Given the description of an element on the screen output the (x, y) to click on. 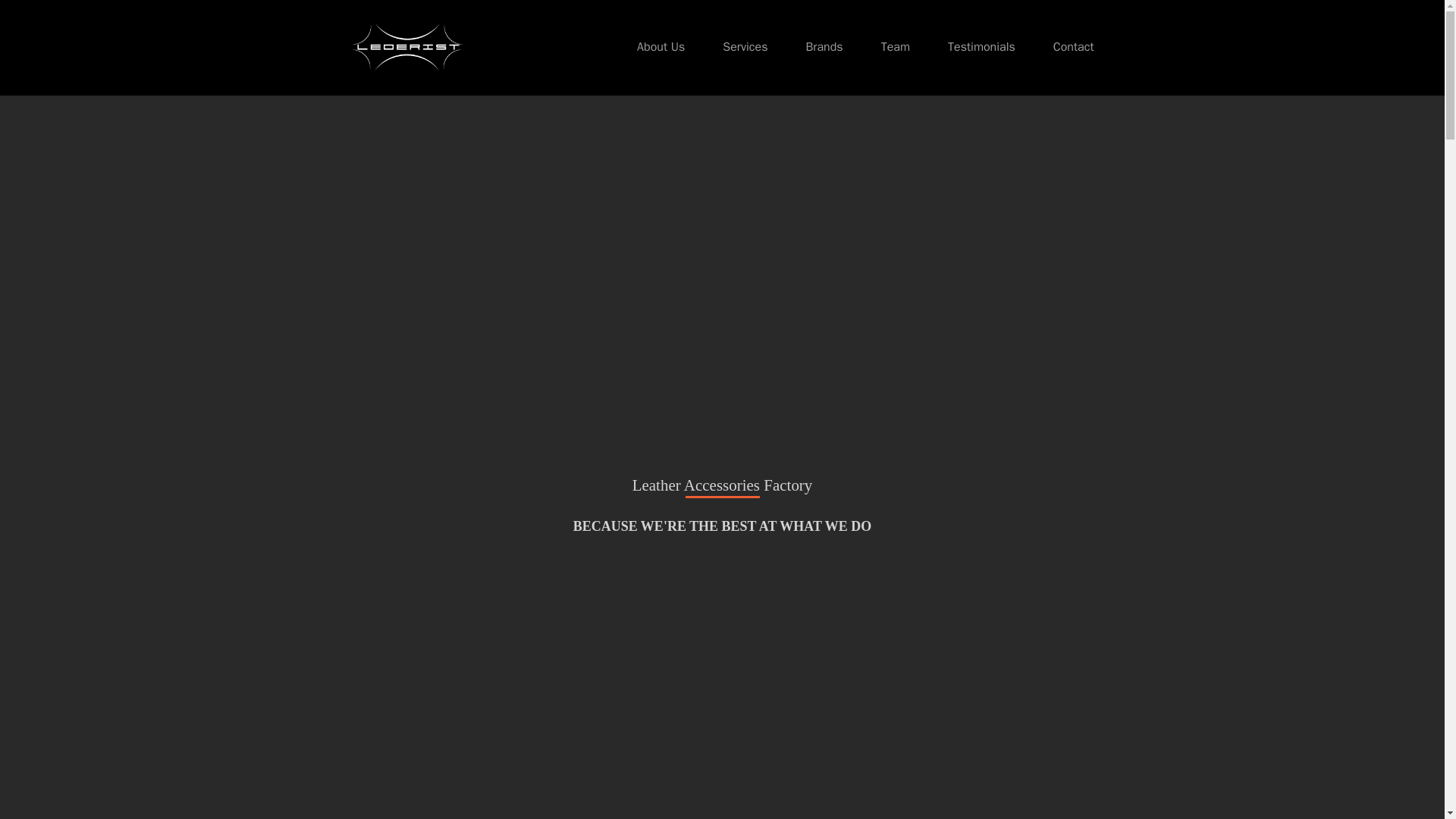
Testimonials (981, 47)
About Us (660, 47)
Testimonials (981, 47)
Services (744, 47)
Team (895, 47)
About Us (660, 47)
Team (895, 47)
Contact (1073, 47)
Brands (823, 47)
Brands (823, 47)
